Given the description of an element on the screen output the (x, y) to click on. 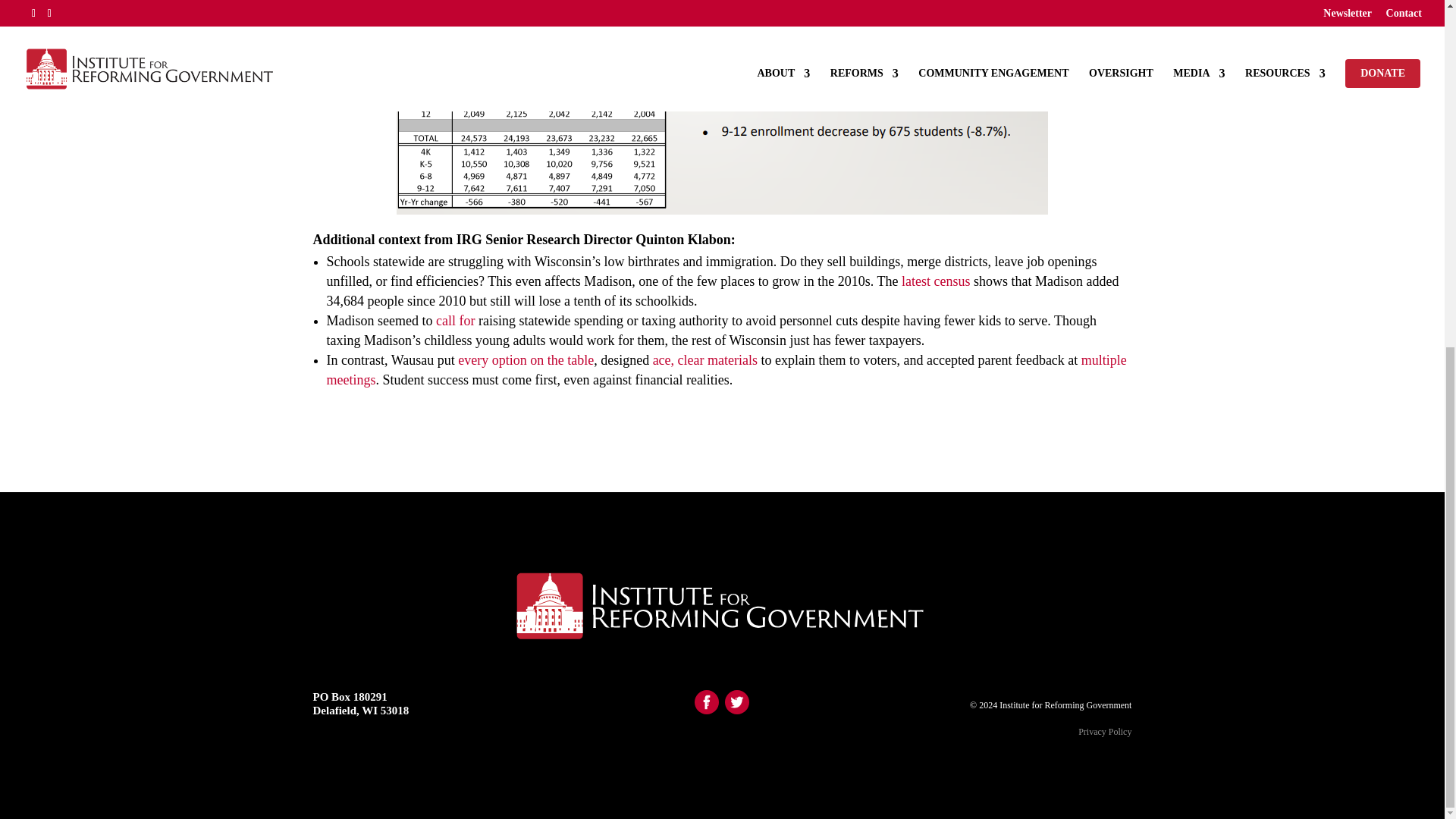
Follow on X (737, 702)
Follow on Facebook (706, 702)
